Given the description of an element on the screen output the (x, y) to click on. 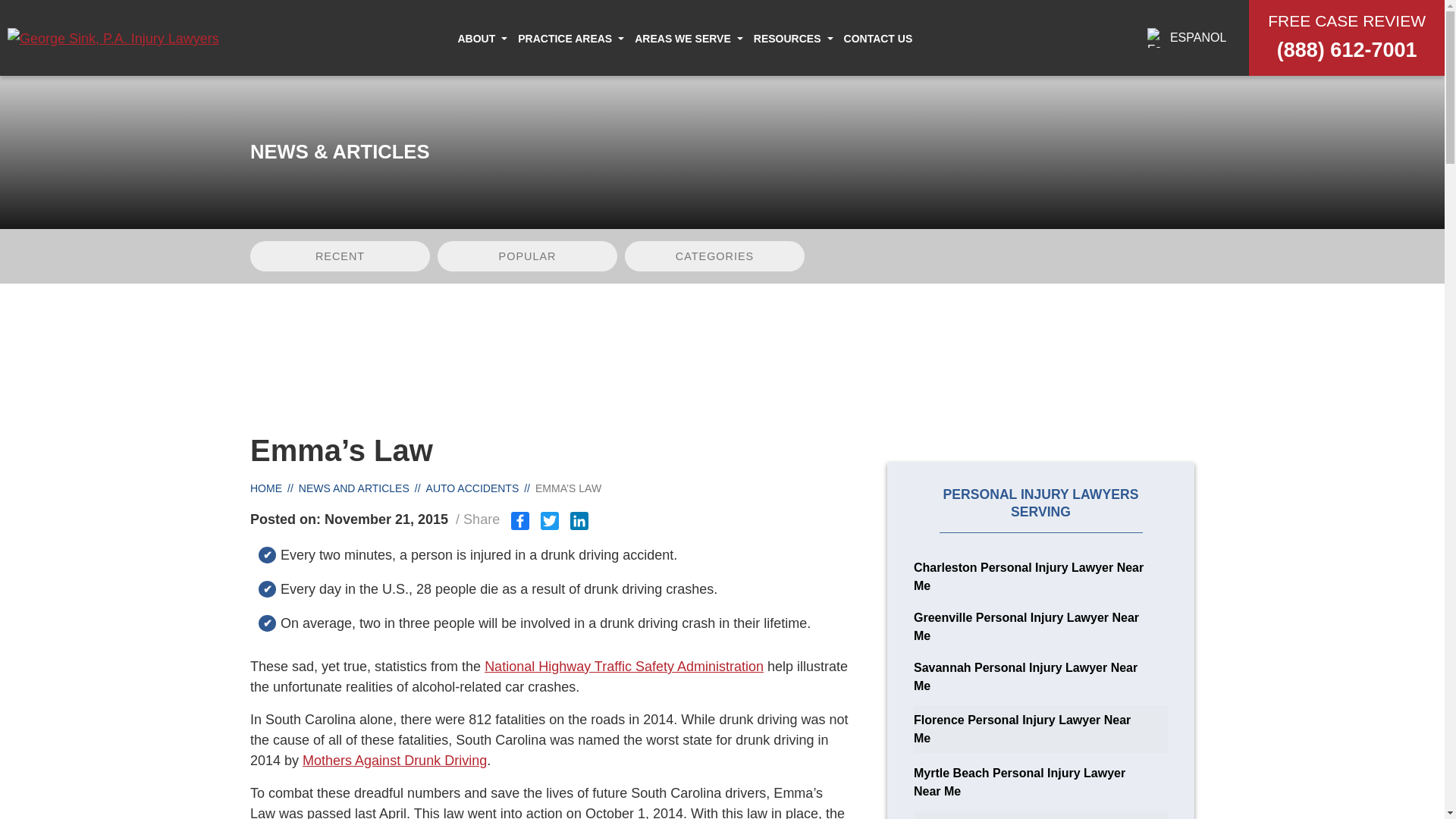
Our Attorneys (486, 74)
PRACTICE AREAS (564, 37)
CONTACT US (878, 37)
AREAS WE SERVE (682, 37)
Charleston, SC (622, 74)
Car Accidents (574, 74)
All Areas We Serve (622, 74)
Greenville, SC (762, 74)
George Sink, P.A. Injury Lawyers (113, 38)
ABOUT (476, 37)
RESOURCES (787, 37)
Blog (796, 74)
